Given the description of an element on the screen output the (x, y) to click on. 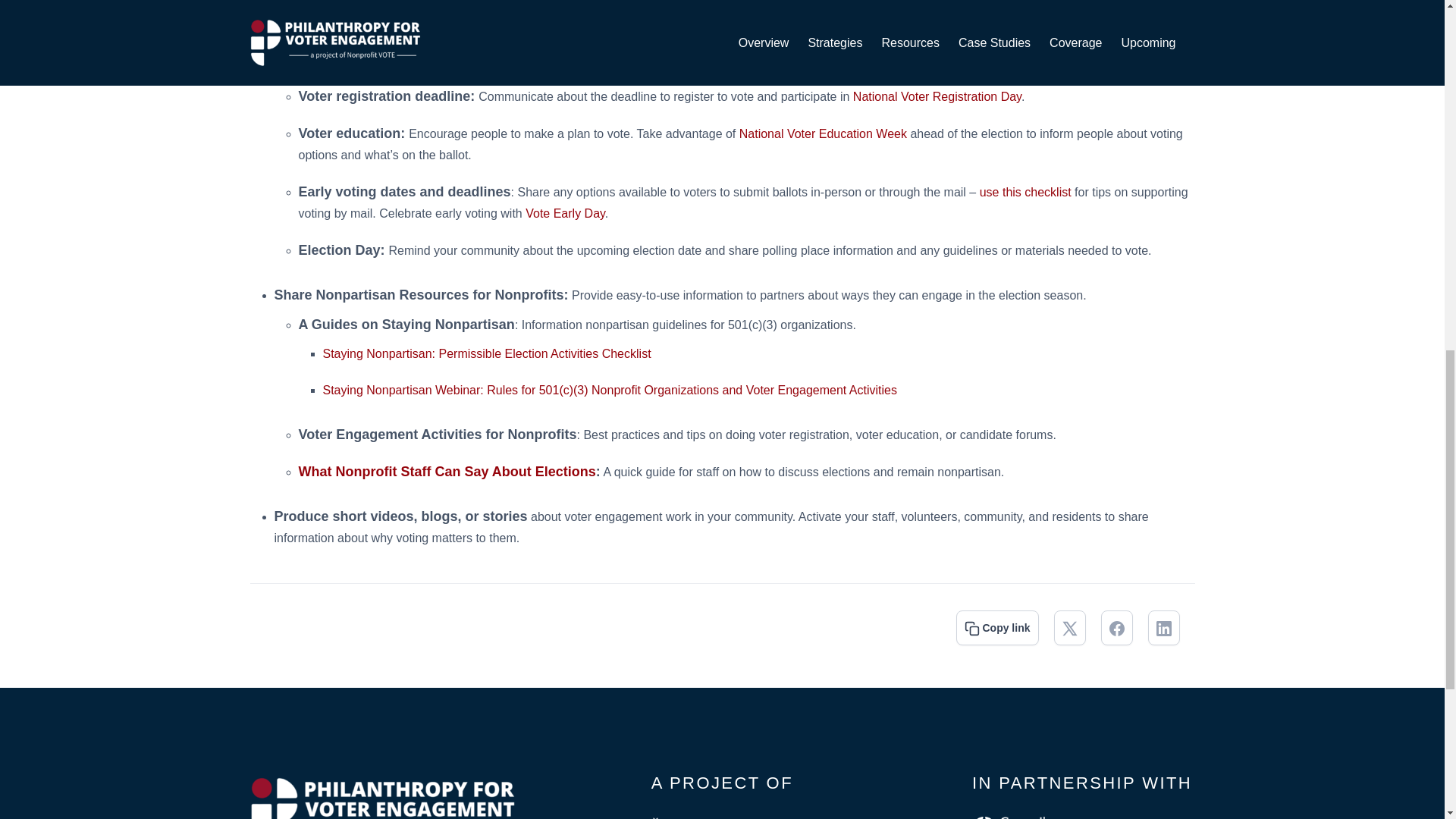
use this checklist (1025, 192)
National Voter Registration Day (937, 96)
What Nonprofit Staff Can Say About Elections (446, 472)
Vote Early Day (565, 213)
Copy link (996, 627)
National Voter Education Week (823, 133)
